Given the description of an element on the screen output the (x, y) to click on. 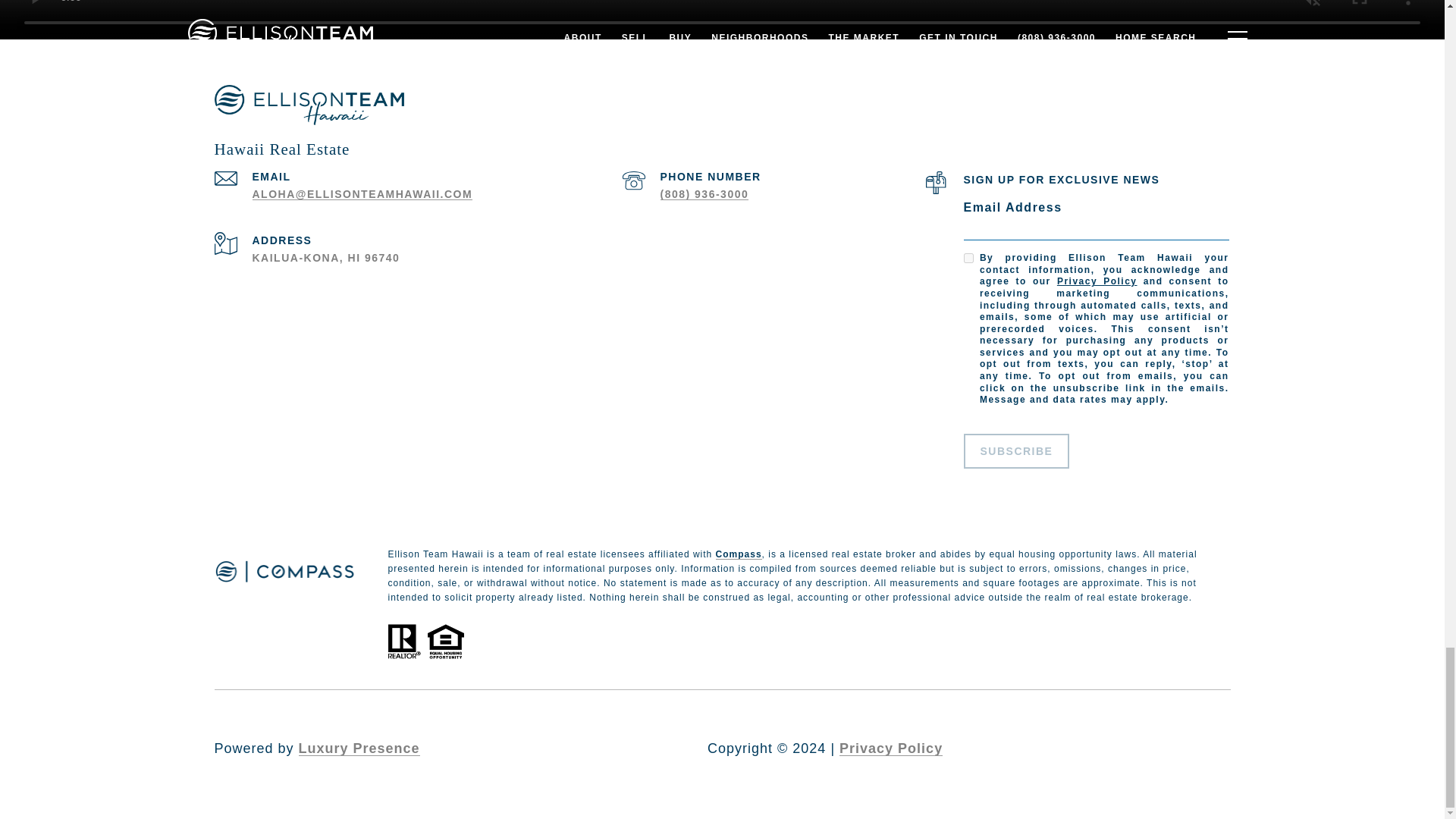
on (967, 257)
